Given the description of an element on the screen output the (x, y) to click on. 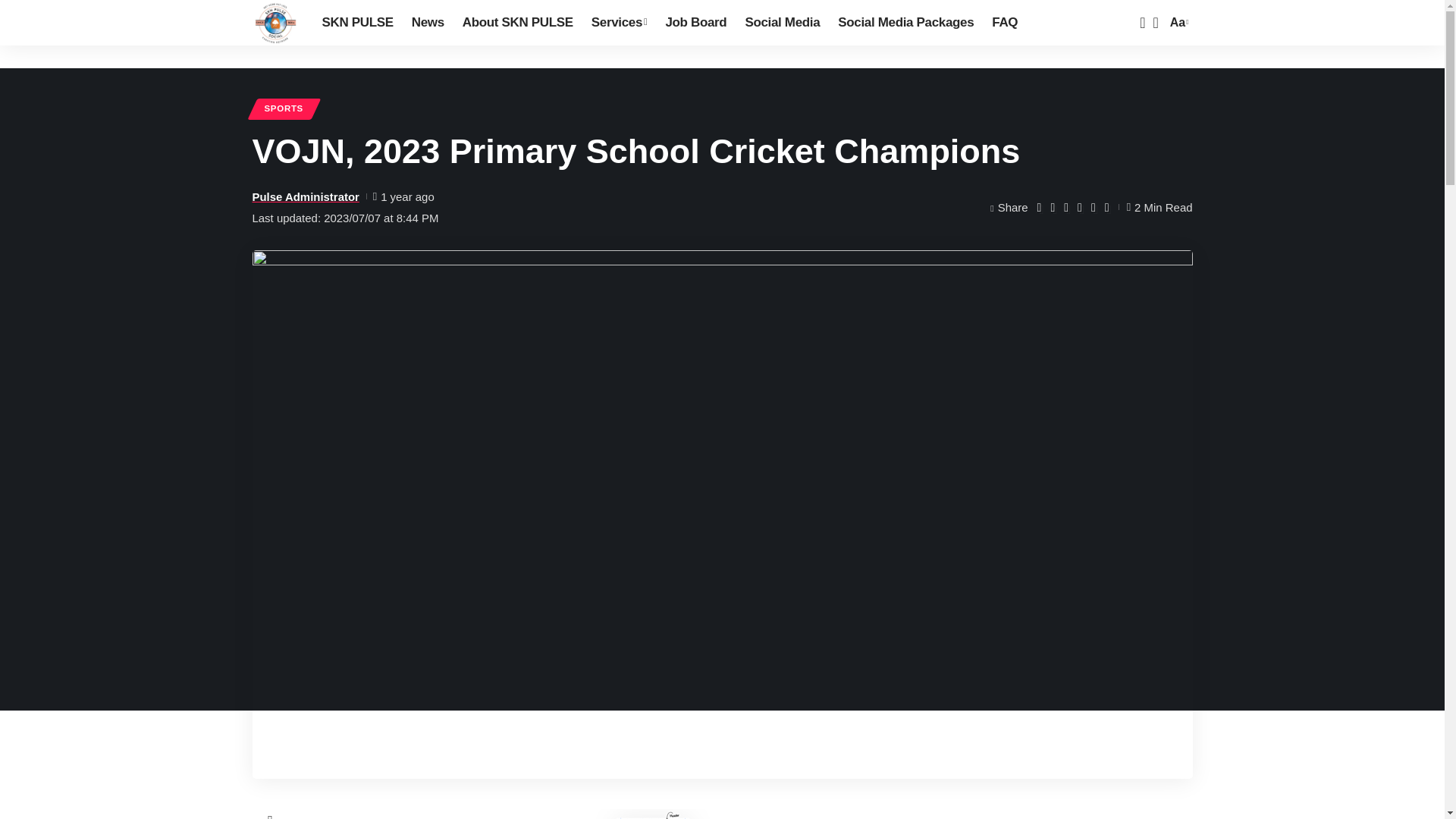
Job Board (695, 22)
News (427, 22)
Social Media (781, 22)
SKN PULSE (274, 22)
Aa (1177, 22)
Social Media Packages (905, 22)
FAQ (1004, 22)
Services (619, 22)
About SKN PULSE (517, 22)
SKN PULSE (357, 22)
